Given the description of an element on the screen output the (x, y) to click on. 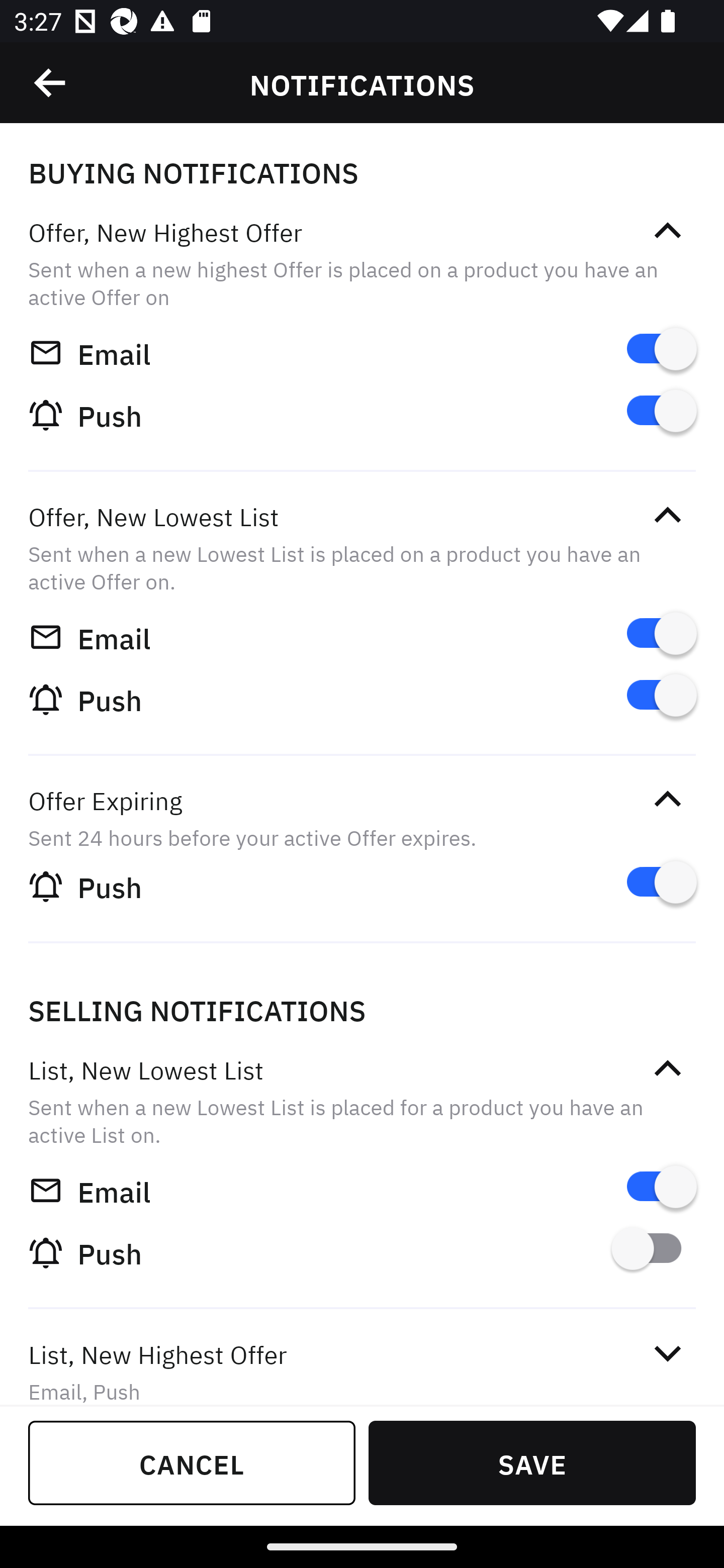
 (50, 83)
 (667, 231)
 (667, 514)
 (667, 799)
 (667, 1068)
List, New Highest Offer  Email, Push (361, 1358)
 (667, 1353)
CANCEL (191, 1462)
SAVE (531, 1462)
